Given the description of an element on the screen output the (x, y) to click on. 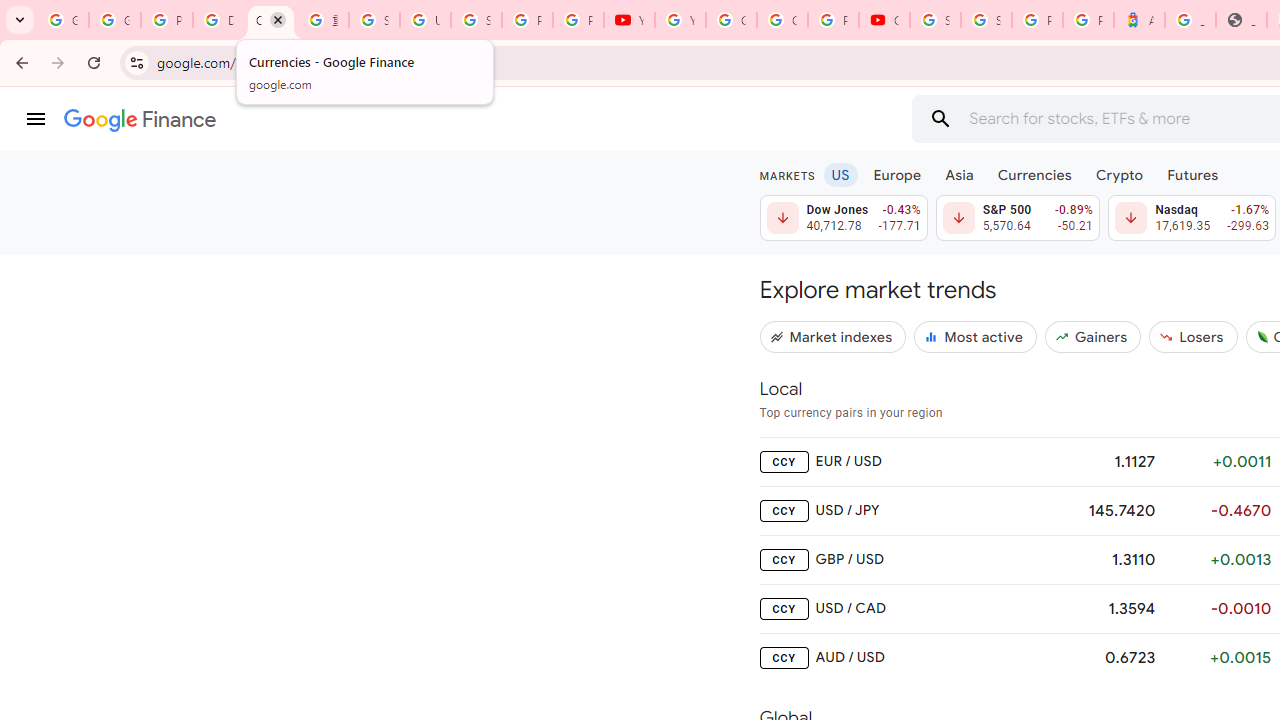
Sign in - Google Accounts (935, 20)
YouTube (629, 20)
Gainers (1092, 336)
Atour Hotel - Google hotels (1138, 20)
Finance (140, 120)
YouTube (680, 20)
Content Creator Programs & Opportunities - YouTube Creators (884, 20)
Nasdaq 17,619.35 Down by 1.67% -299.63 (1192, 218)
Sign in - Google Accounts (986, 20)
Sign in - Google Accounts (374, 20)
